Given the description of an element on the screen output the (x, y) to click on. 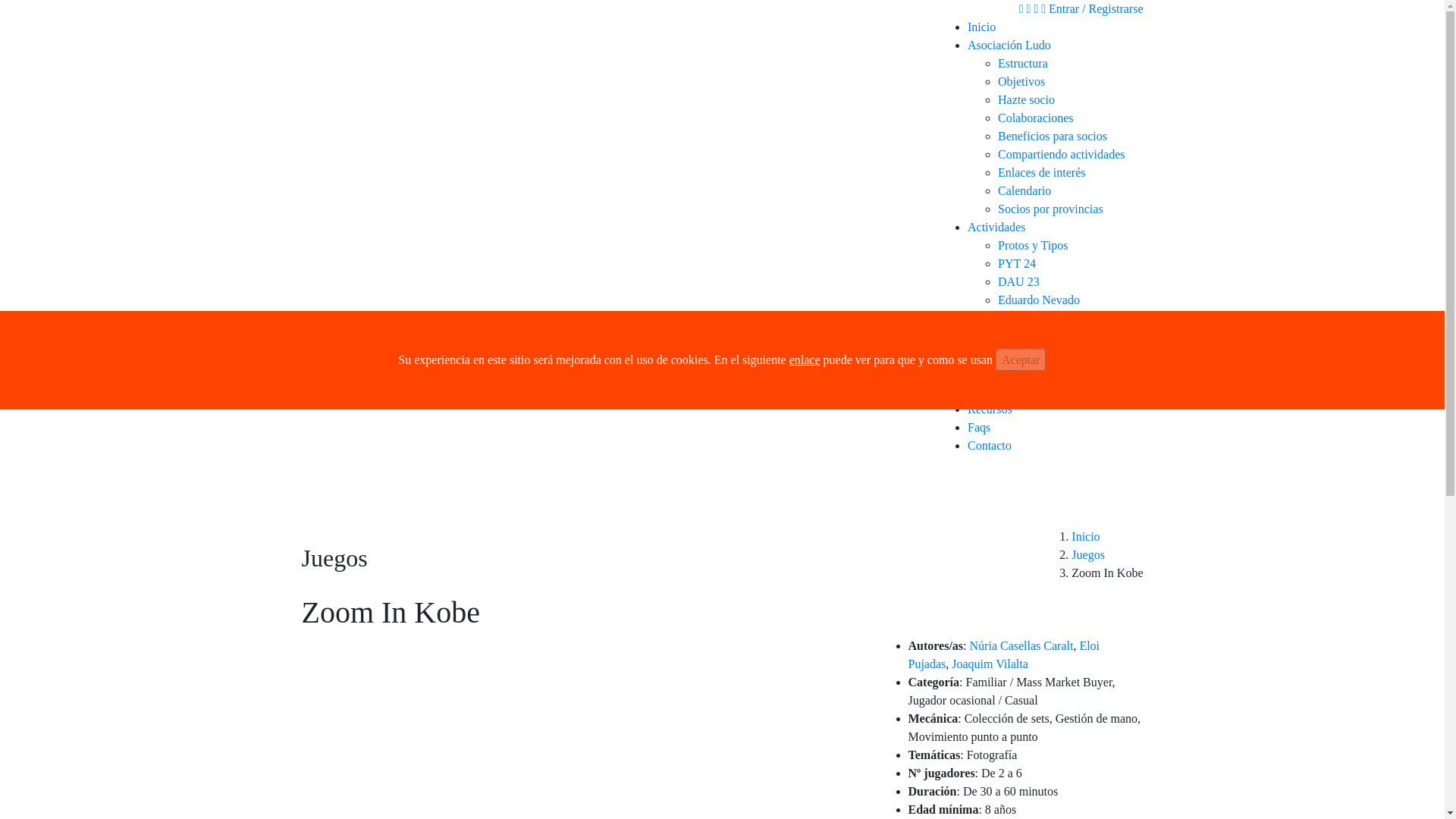
Inicio (981, 26)
Joaquim Vilalta (989, 663)
Eloi Pujadas (1004, 654)
Hazte socio (1025, 99)
Eduardo Nevado (1038, 299)
Discord (1016, 318)
Colaboraciones (1035, 117)
DAU 23 (1018, 281)
Protos y Tipos (1032, 245)
Calendario (1024, 190)
